Given the description of an element on the screen output the (x, y) to click on. 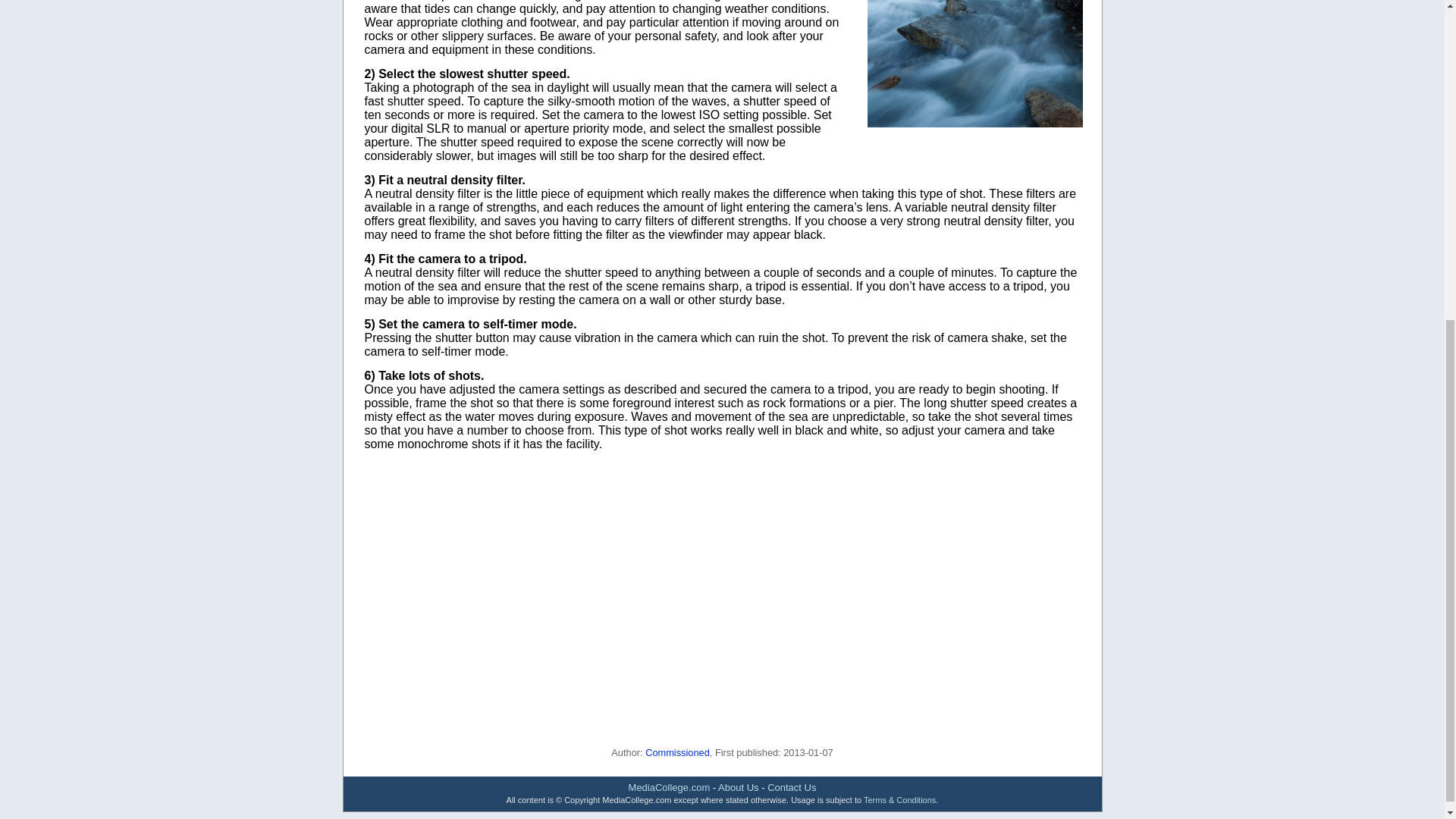
MediaCollege.com (669, 787)
Contact Us (791, 787)
Underwater Photographs (975, 63)
About Us (737, 787)
Commissioned (677, 752)
